Given the description of an element on the screen output the (x, y) to click on. 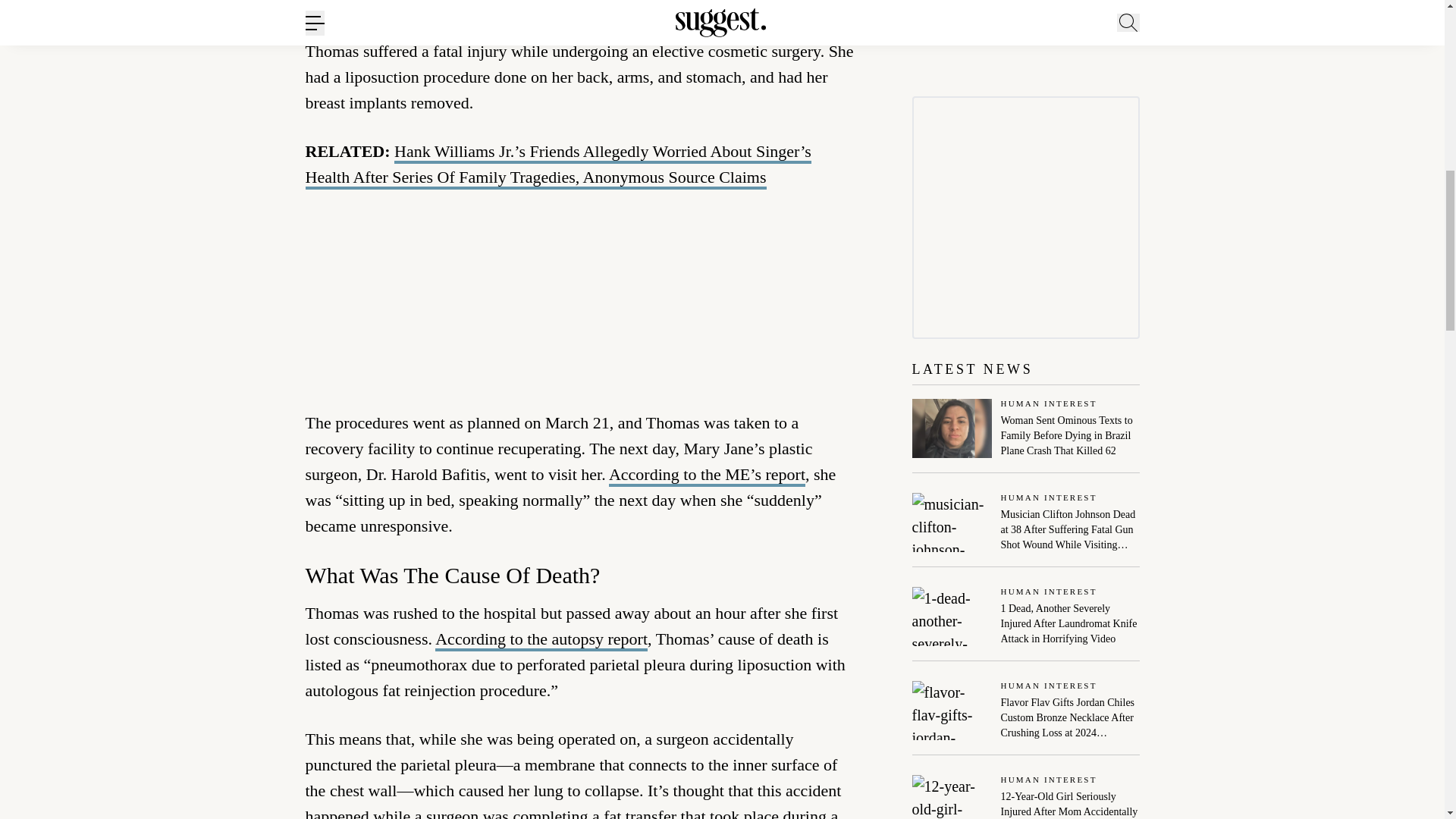
Human Interest (1070, 404)
Human Interest (1070, 498)
According to the autopsy report (541, 640)
